Given the description of an element on the screen output the (x, y) to click on. 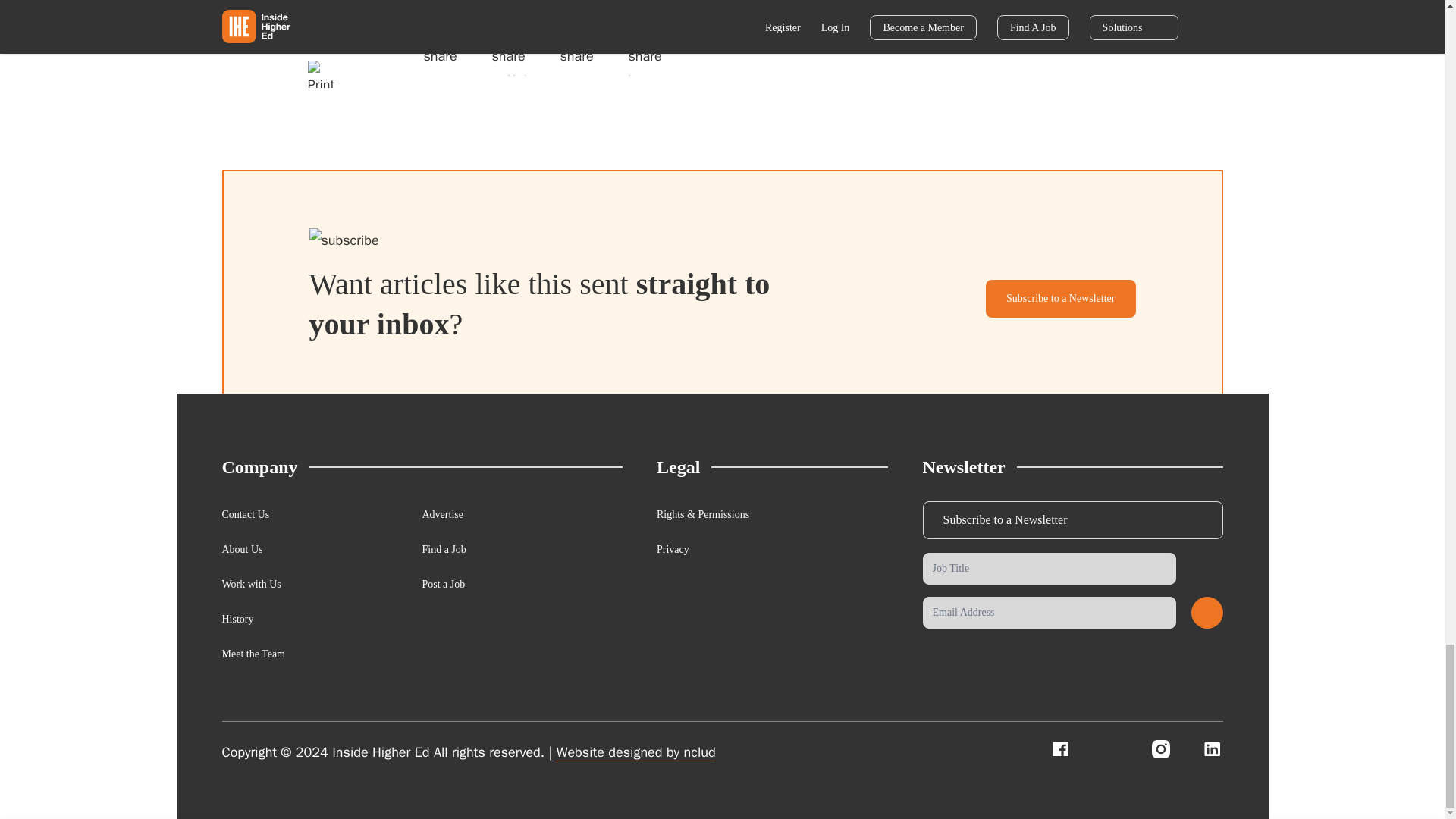
Submit (1207, 612)
share to facebook (445, 53)
